Given the description of an element on the screen output the (x, y) to click on. 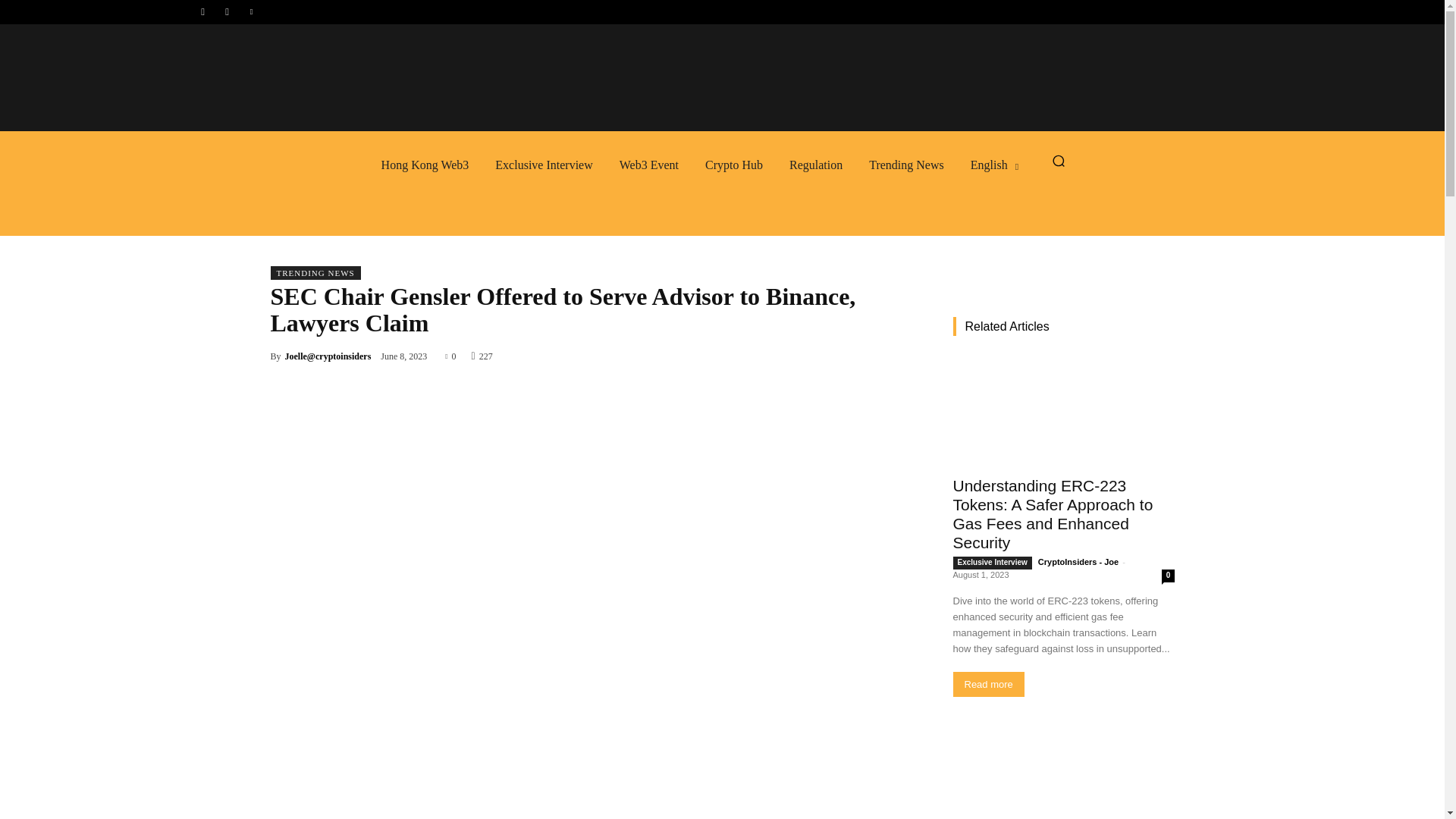
Twitter (251, 12)
Web3 Event (648, 165)
Hong Kong Web3 (425, 165)
What is ERC-6551: the Future of NFTs (1062, 771)
TRENDING NEWS (314, 273)
Regulation (815, 165)
Crypto Hub (734, 165)
Exclusive Interview (543, 165)
Telegram (227, 12)
Trending News (905, 165)
Instagram (202, 12)
